Given the description of an element on the screen output the (x, y) to click on. 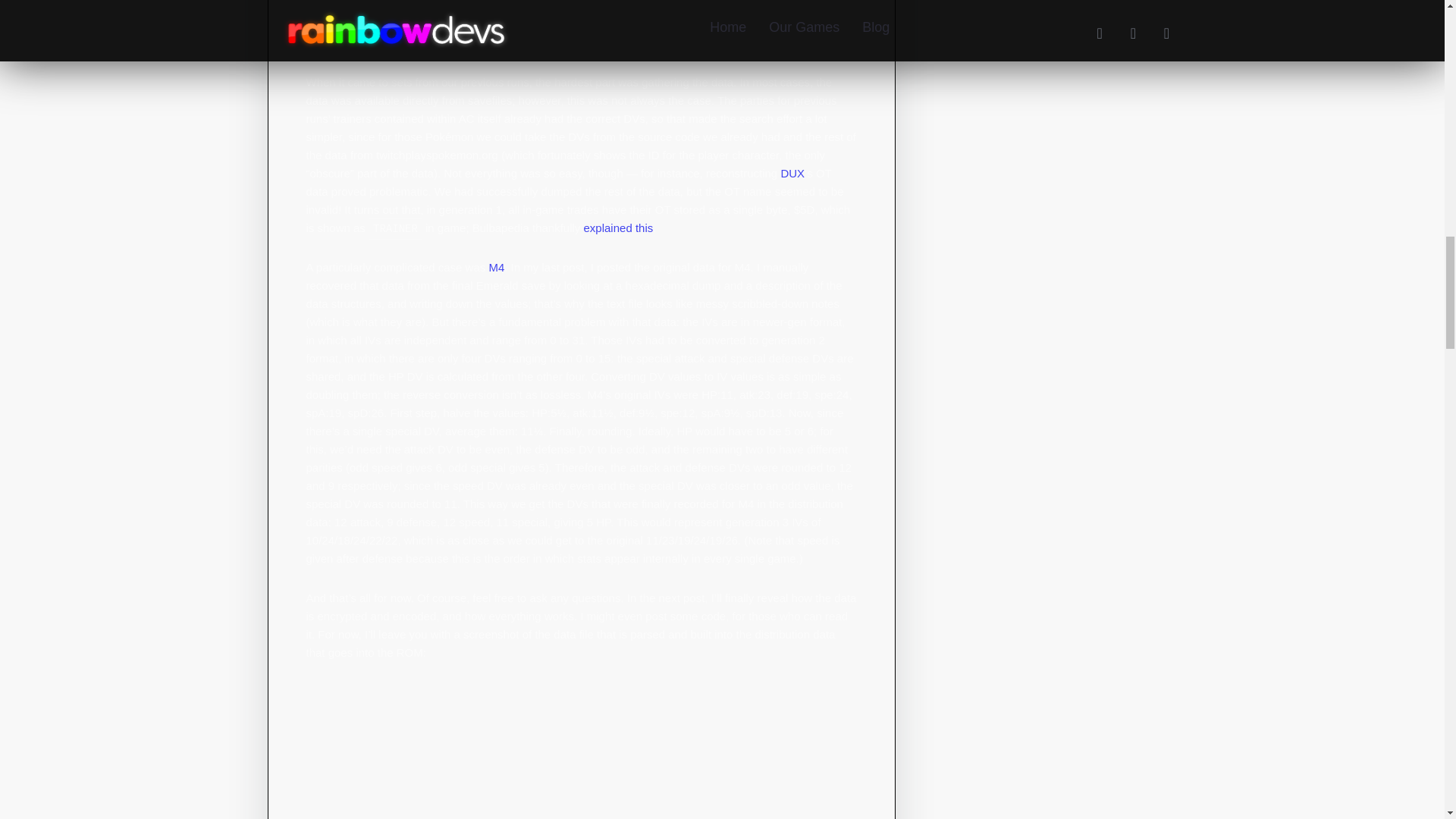
DUX (792, 173)
explained this (618, 227)
M4 (495, 267)
